Given the description of an element on the screen output the (x, y) to click on. 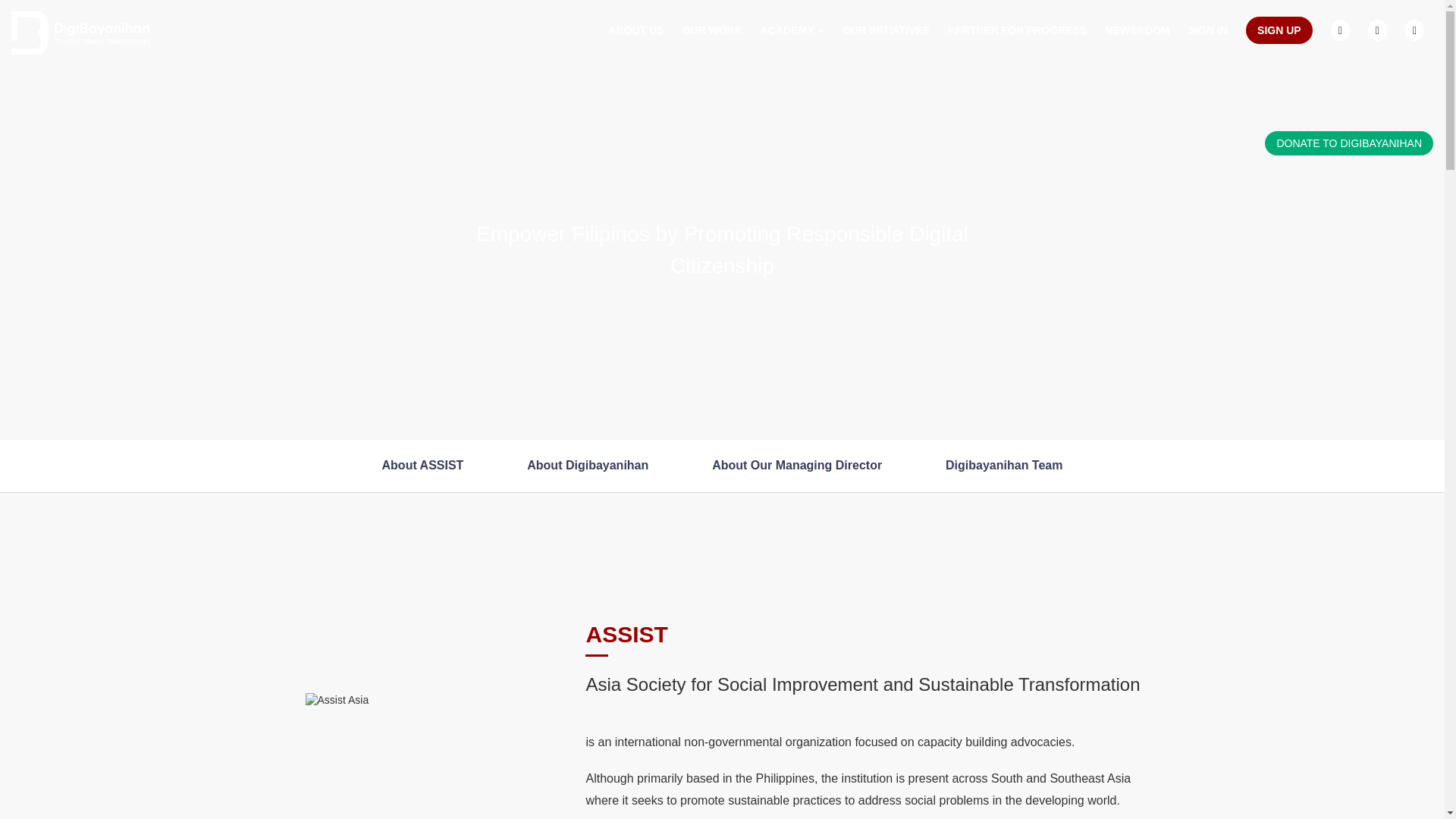
About ASSIST (422, 464)
Our Initiatives (885, 30)
ABOUT US (635, 30)
OUR INITIATIVES (885, 30)
PARTNER FOR PROGRESS (1017, 30)
Our Work (711, 30)
About Digibayanihan (587, 464)
SIGN UP (1279, 30)
Newsroom (1137, 30)
SIGN IN (1207, 30)
Digibayanihan Team (1003, 464)
Sign In (1207, 30)
Partner For Progress (1017, 30)
About Us (635, 30)
Sign Up (1279, 30)
